Given the description of an element on the screen output the (x, y) to click on. 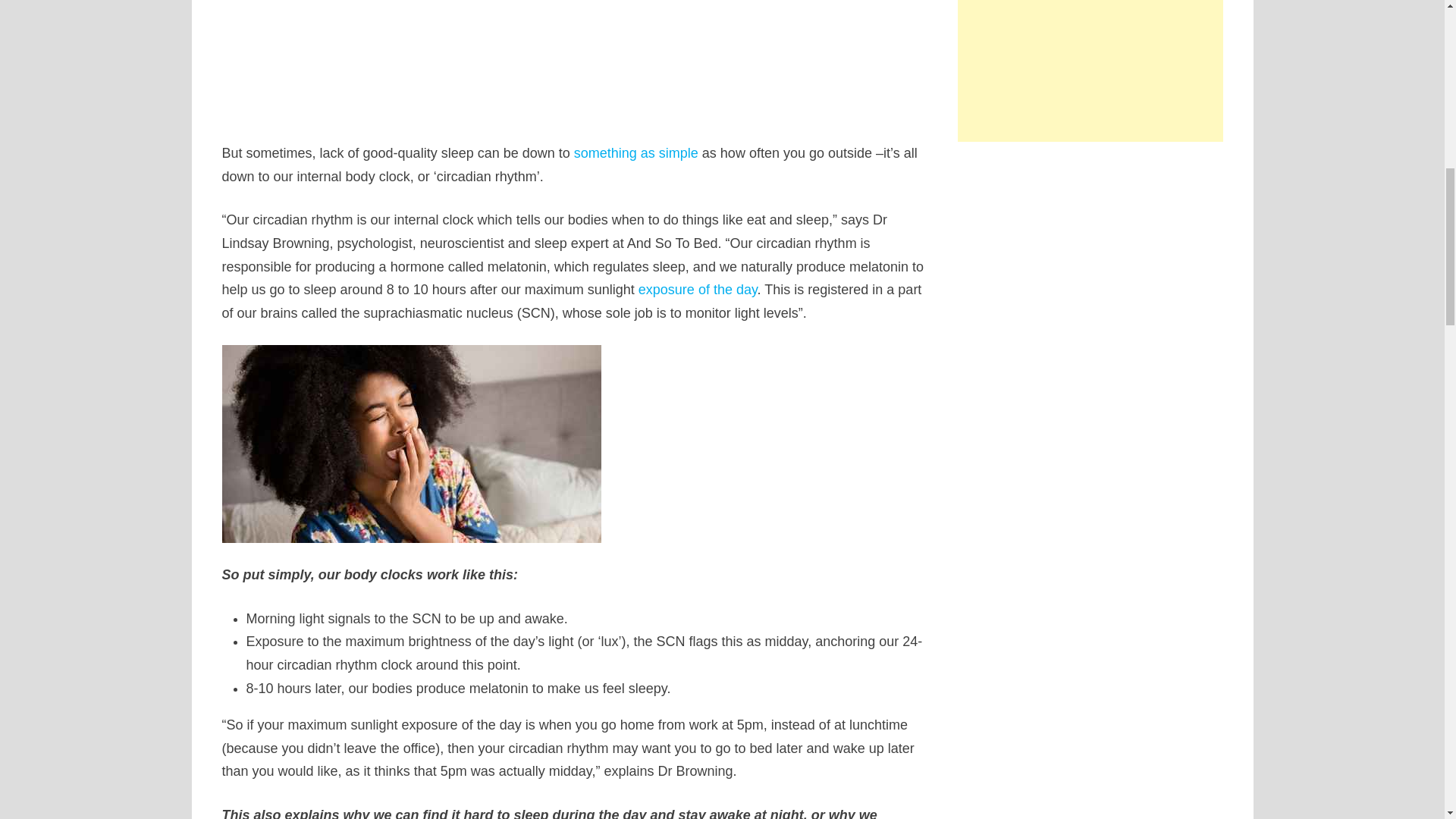
exposure of the day (698, 289)
something as simple (635, 152)
